Given the description of an element on the screen output the (x, y) to click on. 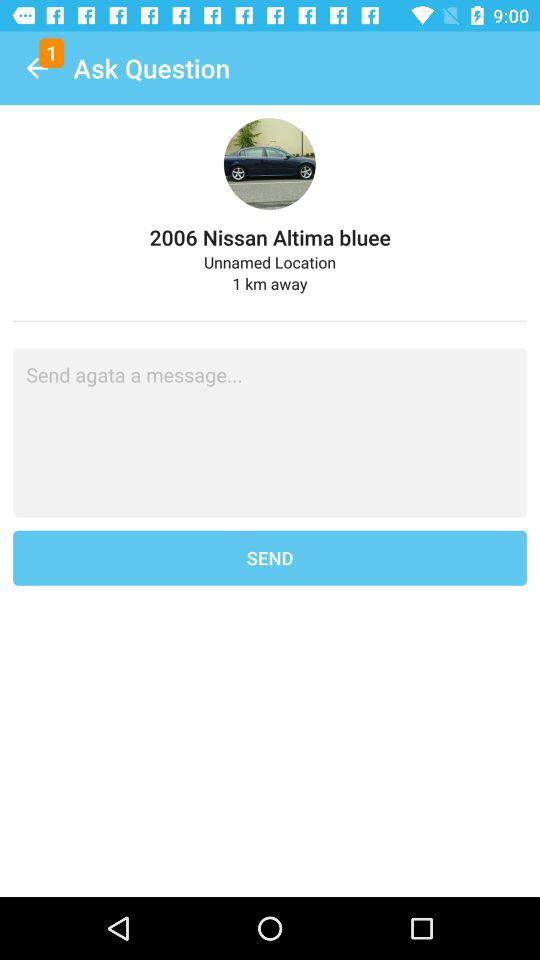
enter a message (269, 432)
